Given the description of an element on the screen output the (x, y) to click on. 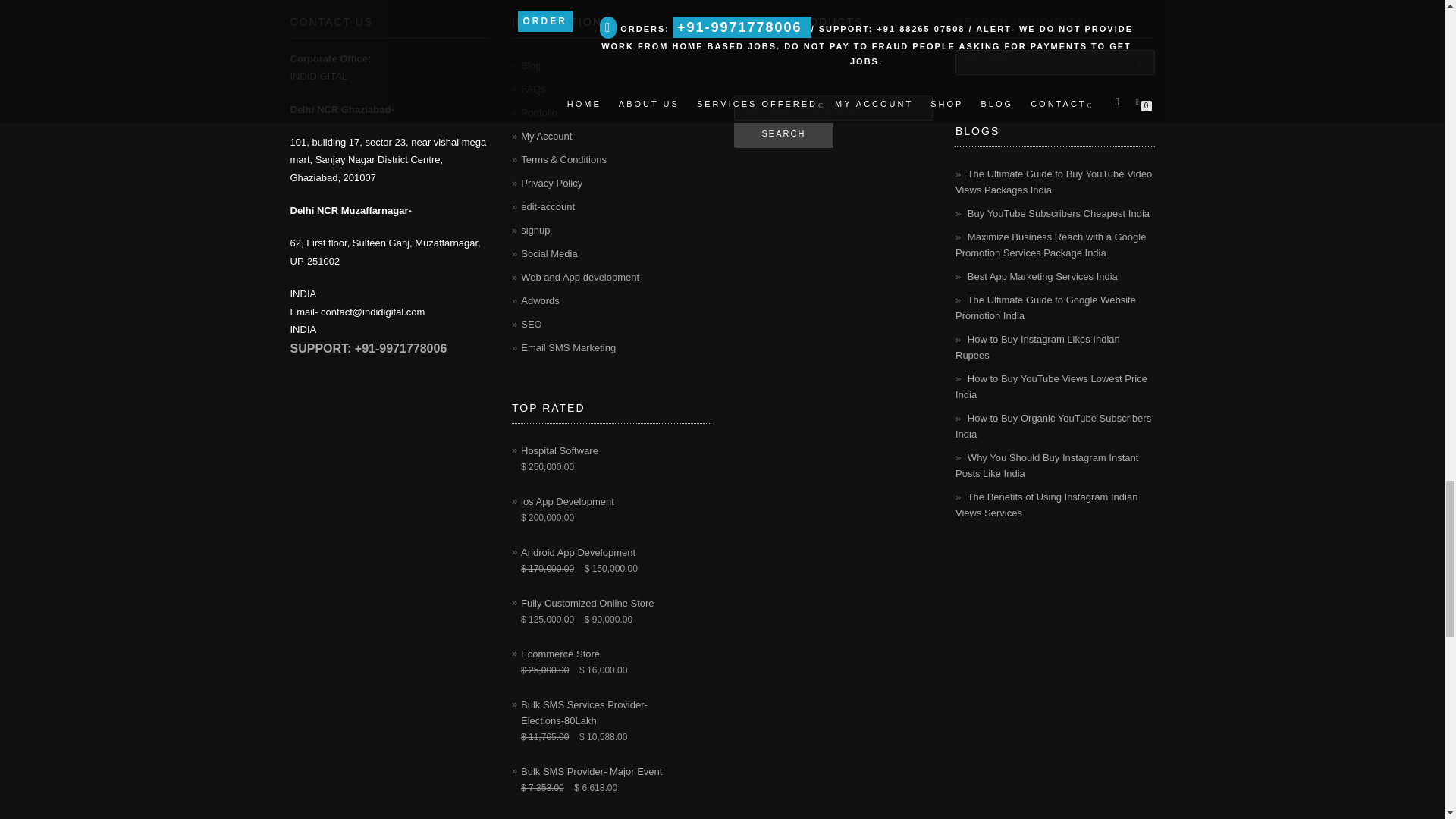
Search (783, 134)
Search (1125, 62)
Search (1125, 62)
